Given the description of an element on the screen output the (x, y) to click on. 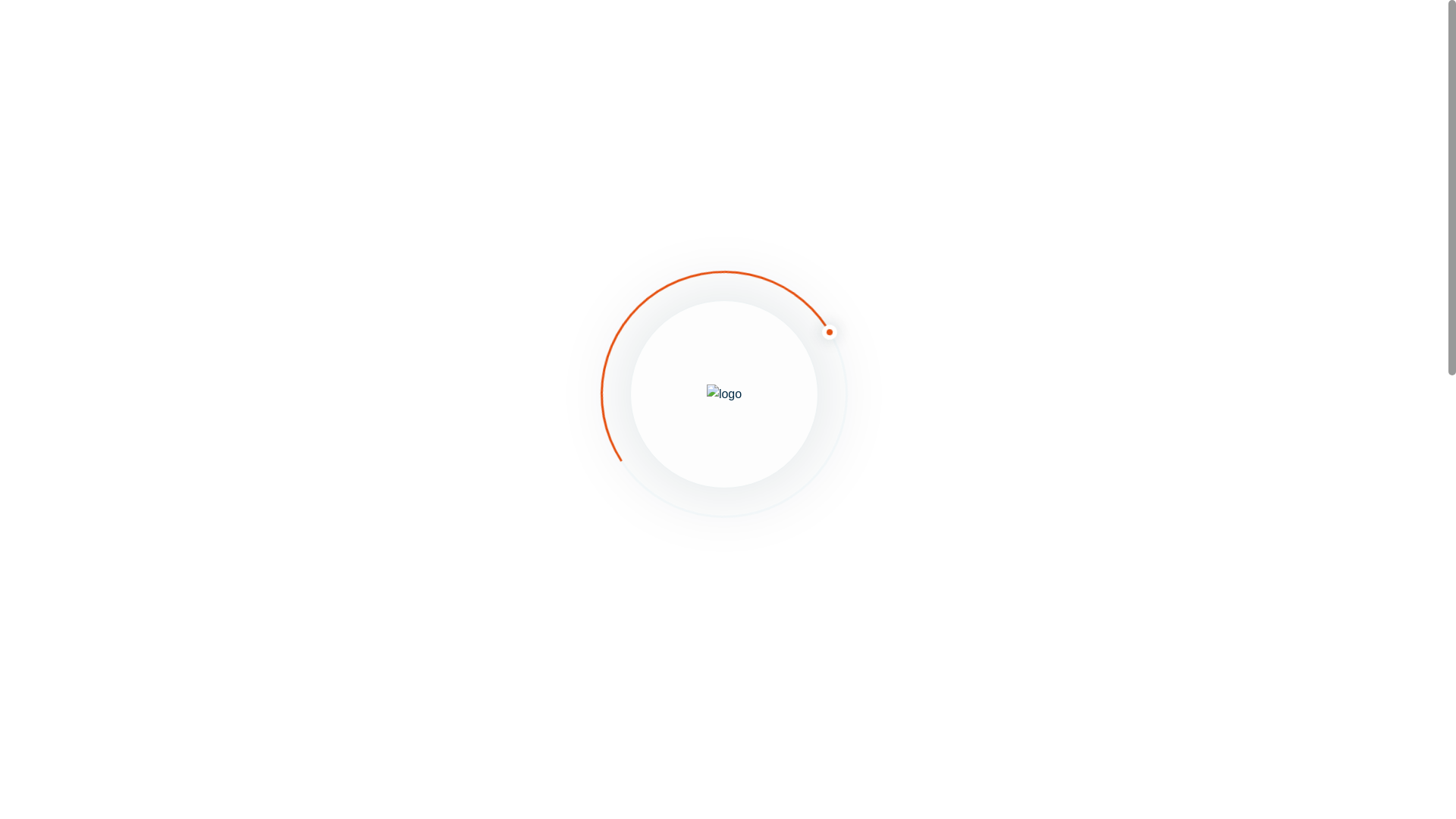
Support (974, 32)
Stories (943, 260)
Solution (427, 32)
API Economy (970, 169)
Company (953, 215)
4.3 million employees (391, 259)
Book a Demo (1109, 32)
Pricing (616, 32)
About Us (706, 32)
Company (310, 126)
Trends (943, 306)
- (943, 260)
Published 9 December, 2020 (784, 126)
Resources (523, 32)
1,500 (467, 417)
